Given the description of an element on the screen output the (x, y) to click on. 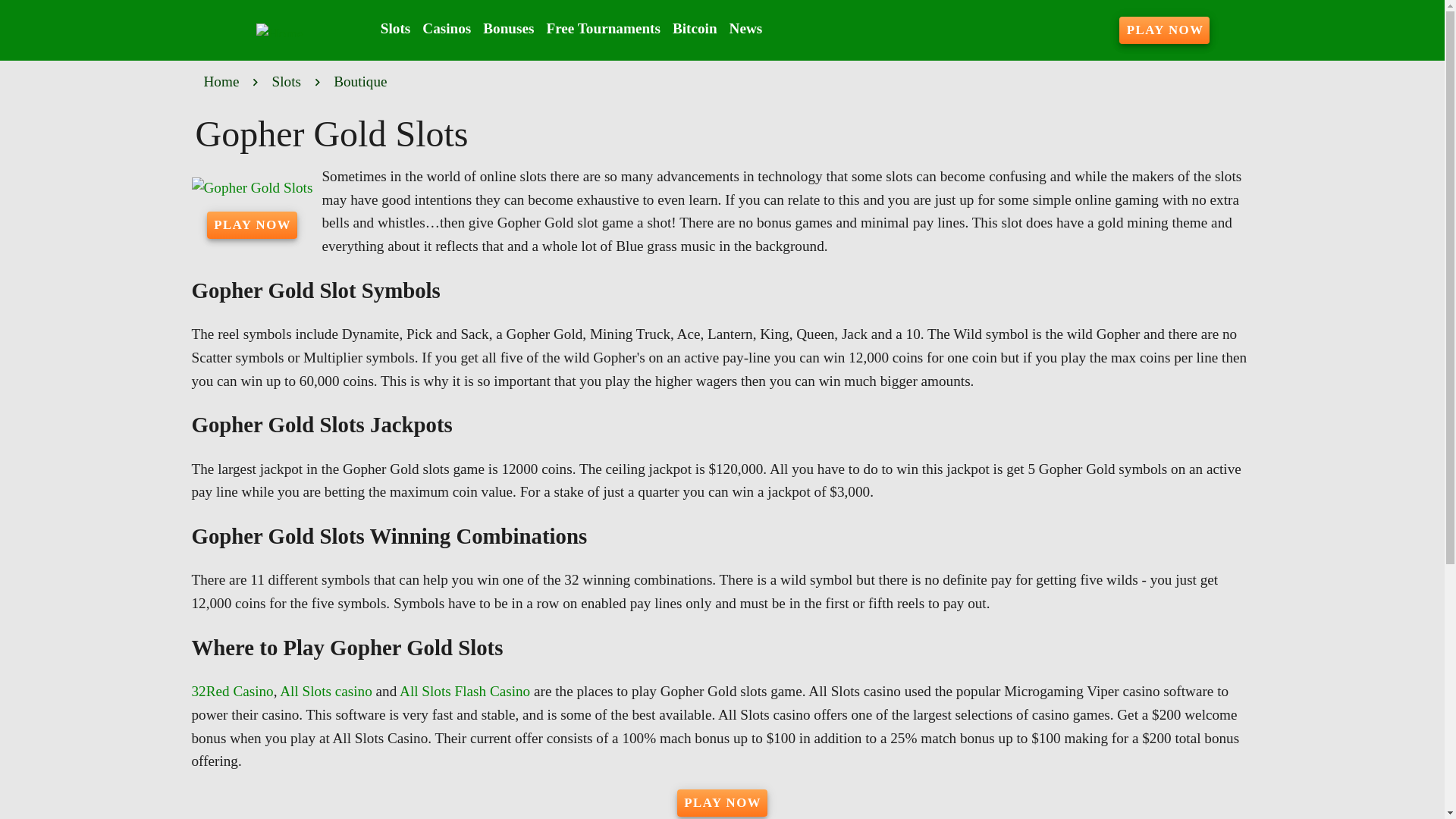
All Slots Flash Casino (463, 691)
News (745, 28)
All Slots casino (325, 691)
Boutique (360, 81)
Slots (286, 81)
32Red Casino (231, 691)
PLAY NOW (722, 802)
Bonuses (508, 28)
Slots (395, 28)
PLAY NOW (1164, 30)
